Given the description of an element on the screen output the (x, y) to click on. 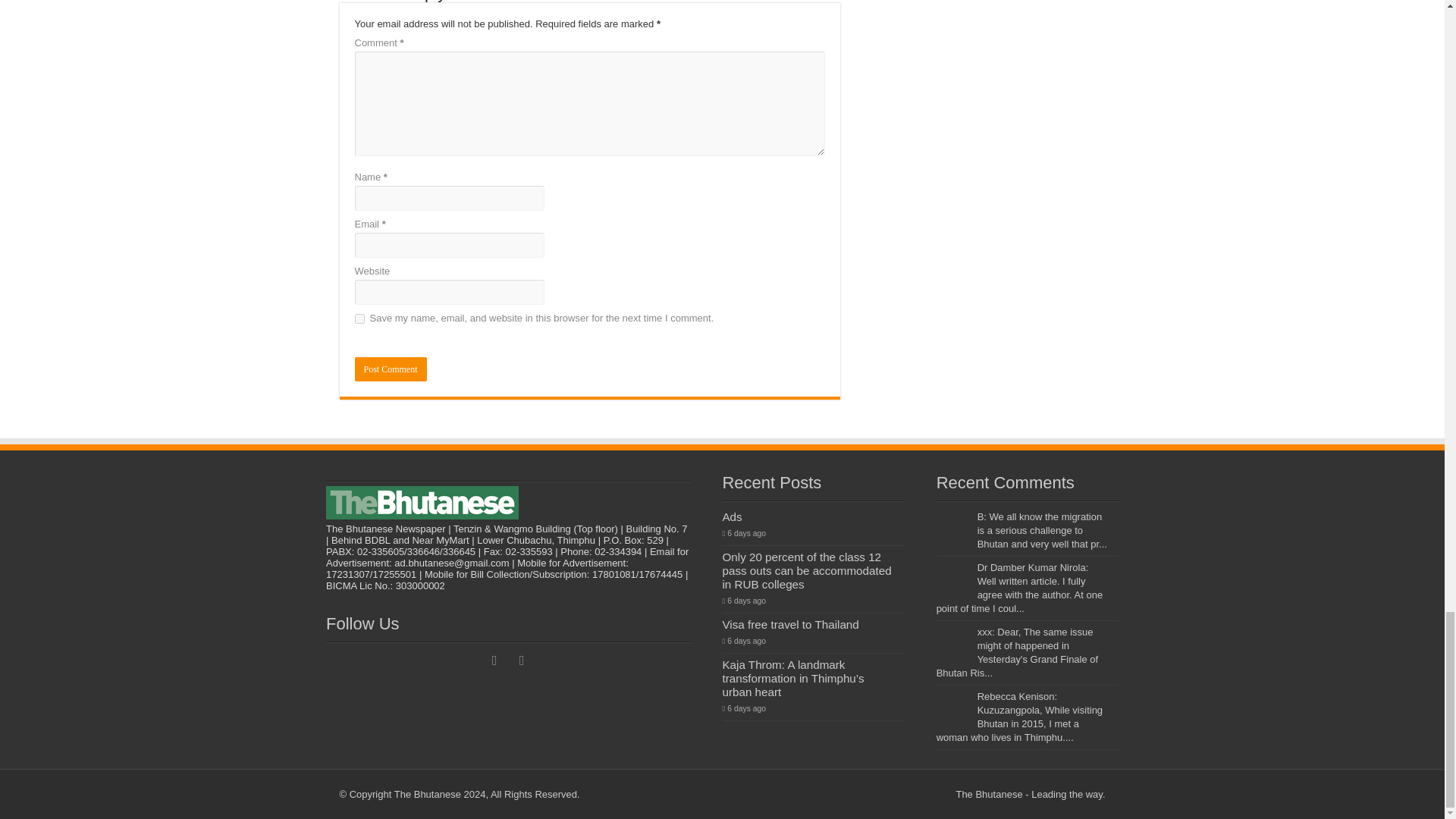
Post Comment (390, 369)
yes (360, 318)
